Given the description of an element on the screen output the (x, y) to click on. 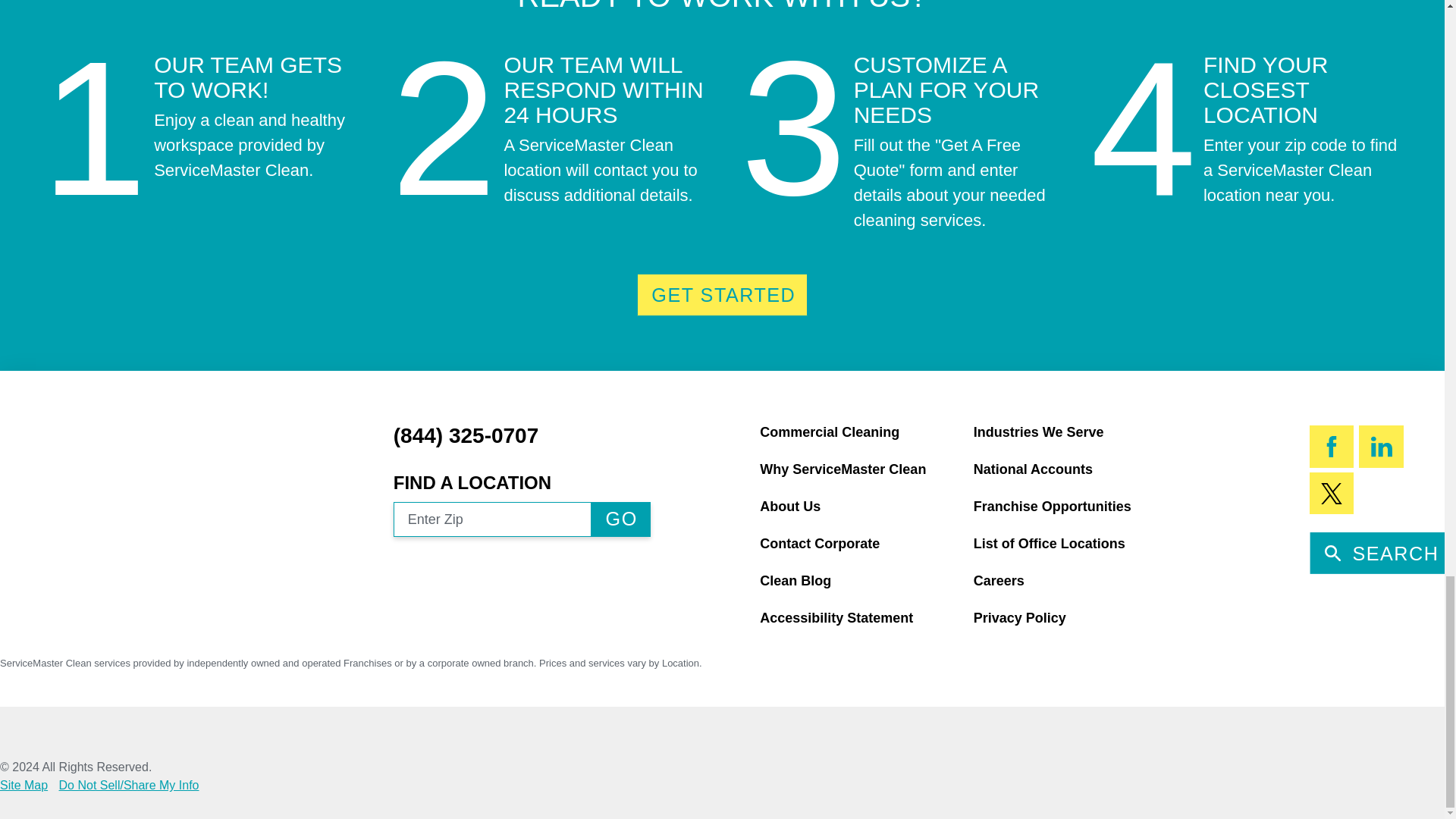
LinkedIn (1380, 446)
Facebook (1331, 446)
Twitter (1331, 493)
